Given the description of an element on the screen output the (x, y) to click on. 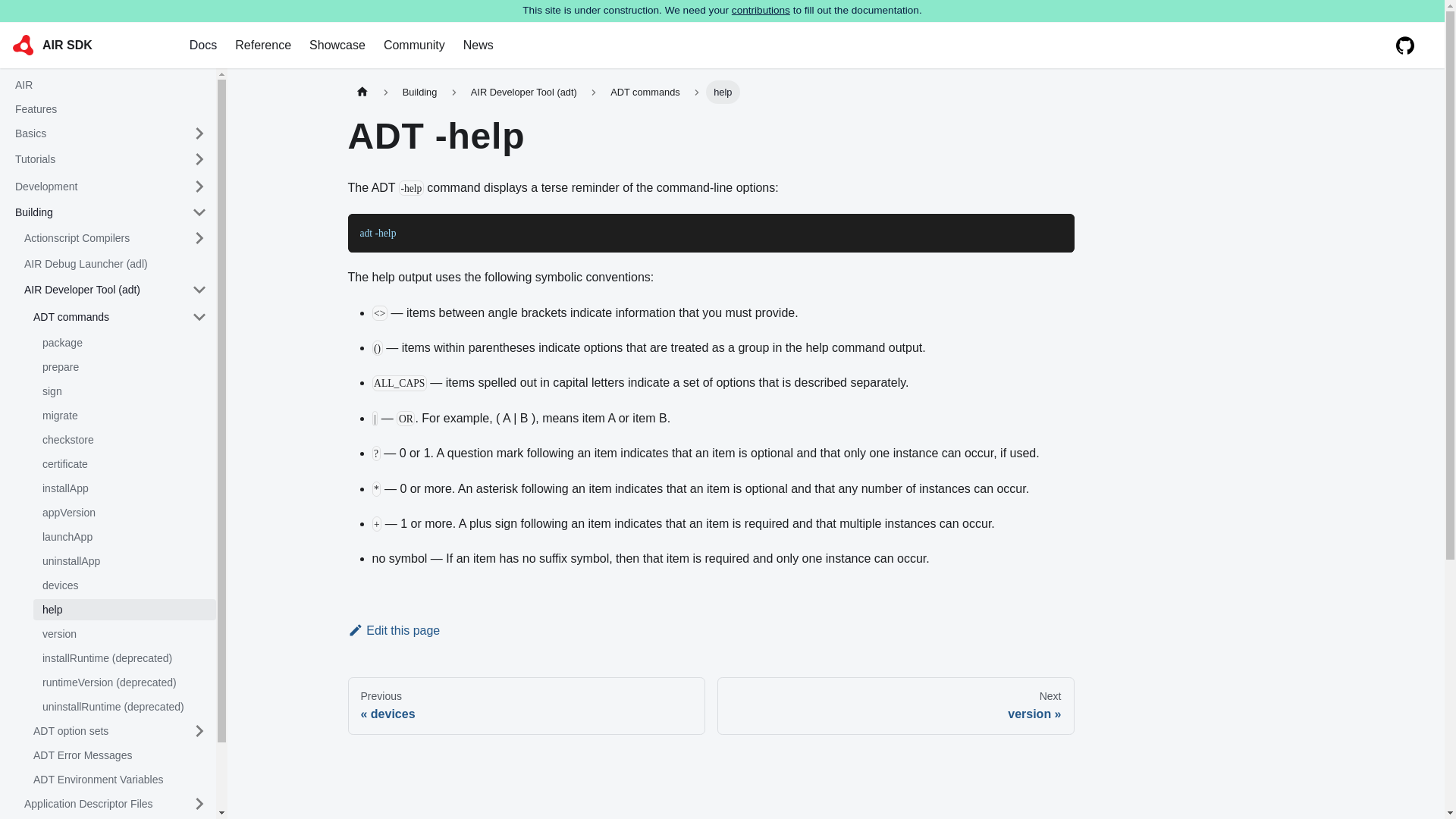
Showcase (336, 45)
ADT commands (103, 316)
Docs (202, 45)
installApp (124, 487)
checkstore (124, 439)
News (478, 45)
devices (124, 585)
Tutorials (94, 159)
appVersion (124, 512)
Community (414, 45)
